Given the description of an element on the screen output the (x, y) to click on. 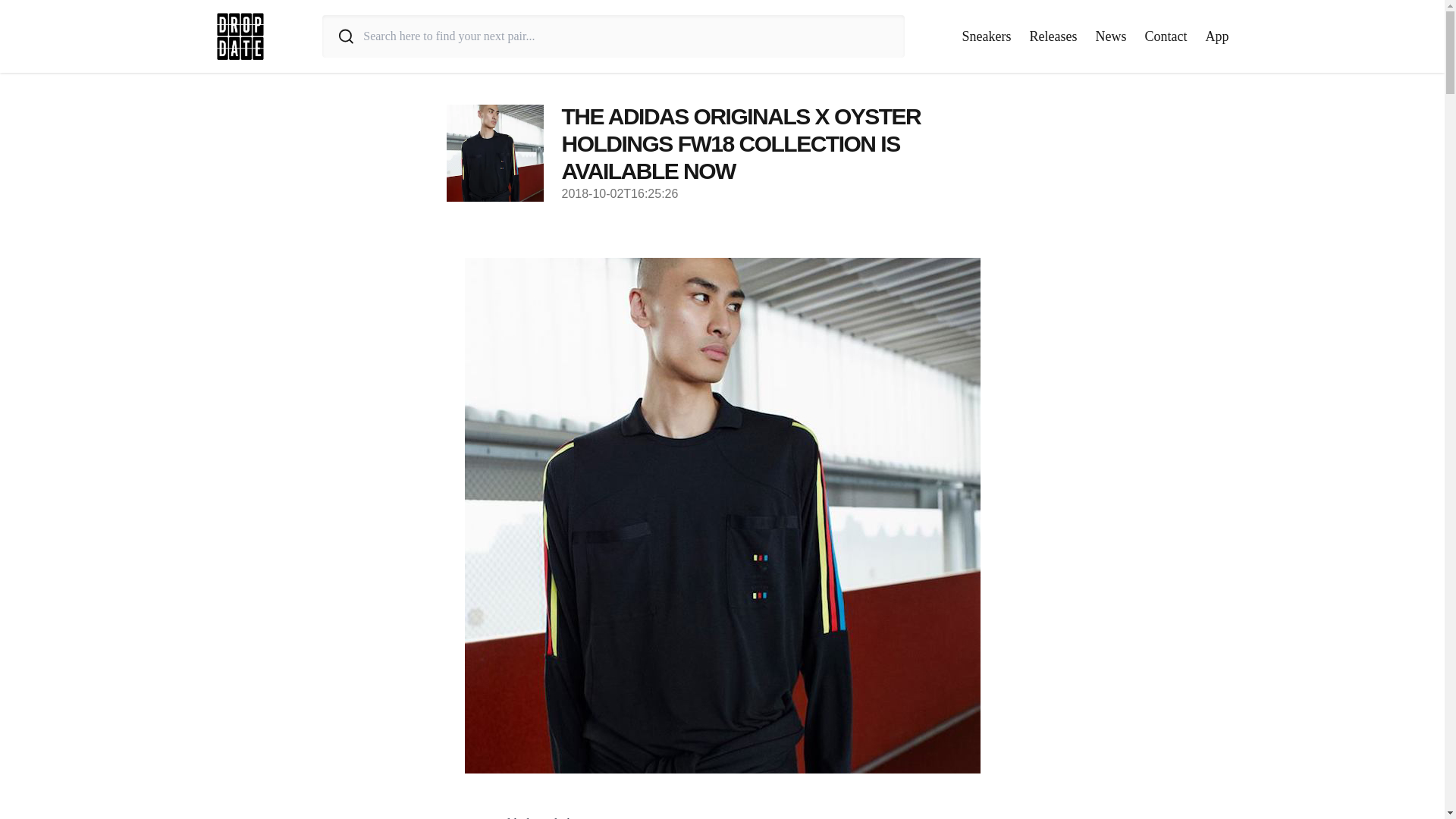
News (1109, 36)
Releases (1053, 36)
App (1216, 36)
Contact (1166, 36)
Sneakers (986, 36)
